Given the description of an element on the screen output the (x, y) to click on. 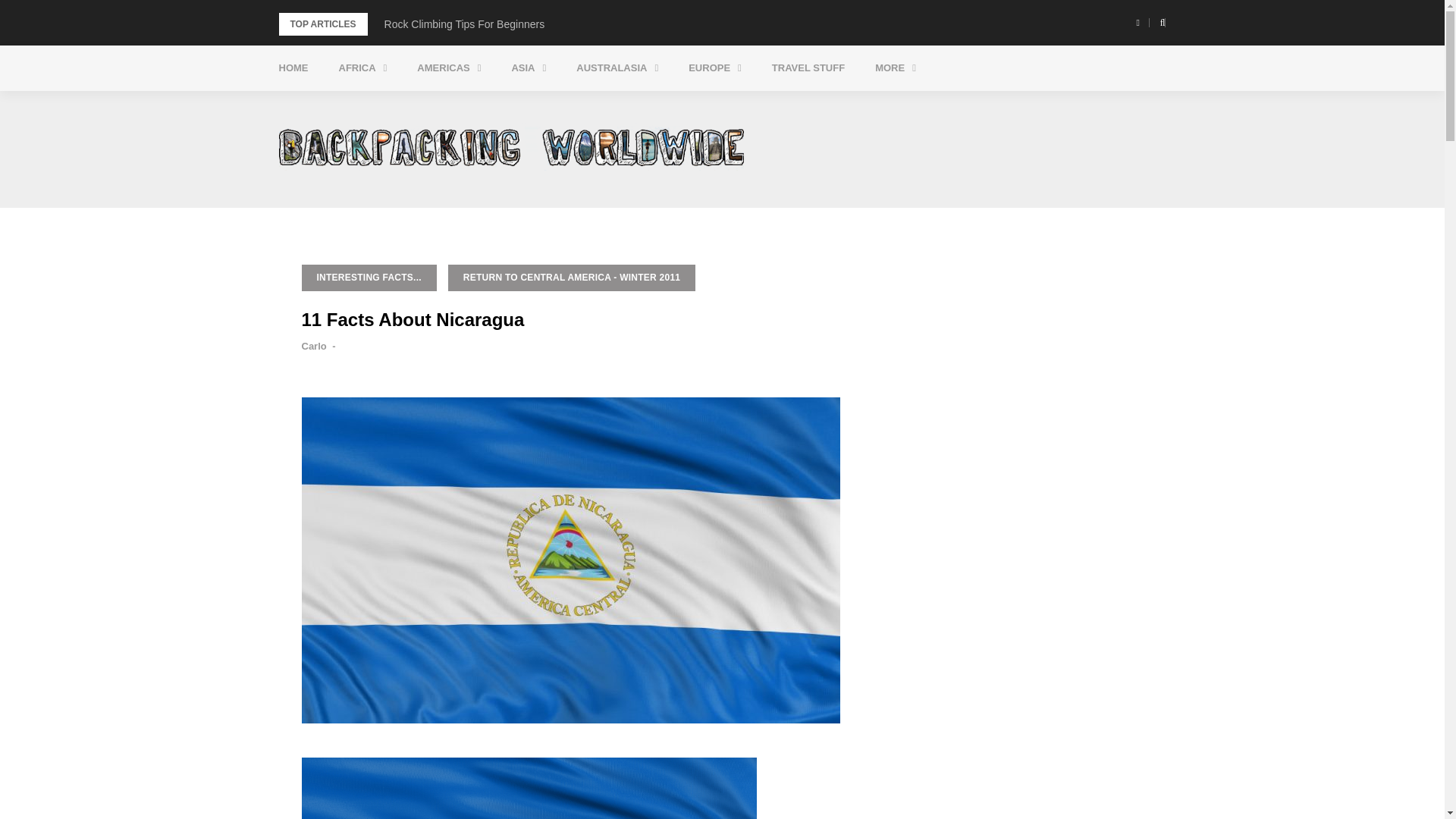
Home (293, 67)
AUSTRALASIA (616, 67)
Algeria (425, 105)
ASIA (528, 67)
EUROPE (714, 67)
AFRICA (362, 67)
HOME (293, 67)
Algeria (425, 105)
Australia (662, 105)
Rock Climbing Tips For Beginners (464, 24)
Africa (362, 67)
Belgium (775, 105)
AMERICAS (448, 67)
Middle East (598, 105)
Belize (504, 105)
